Given the description of an element on the screen output the (x, y) to click on. 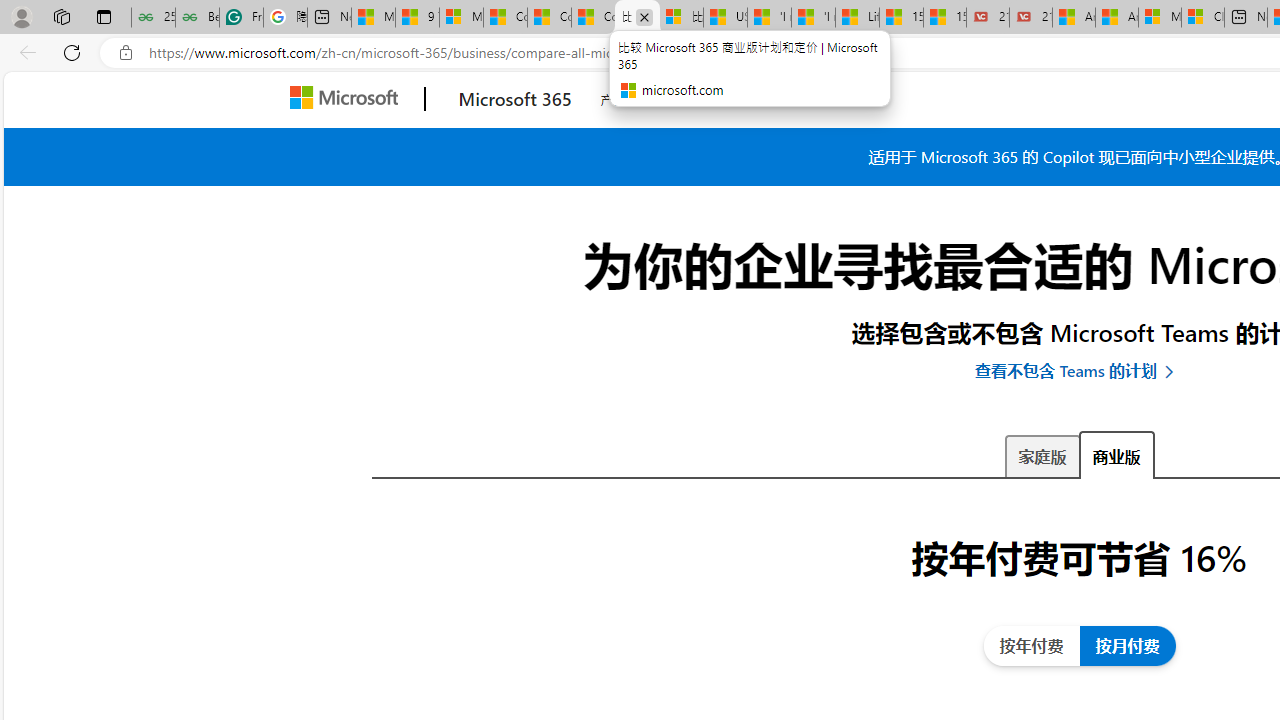
Cloud Computing Services | Microsoft Azure (1202, 17)
Free AI Writing Assistance for Students | Grammarly (241, 17)
Best SSL Certificates Provider in India - GeeksforGeeks (196, 17)
